Given the description of an element on the screen output the (x, y) to click on. 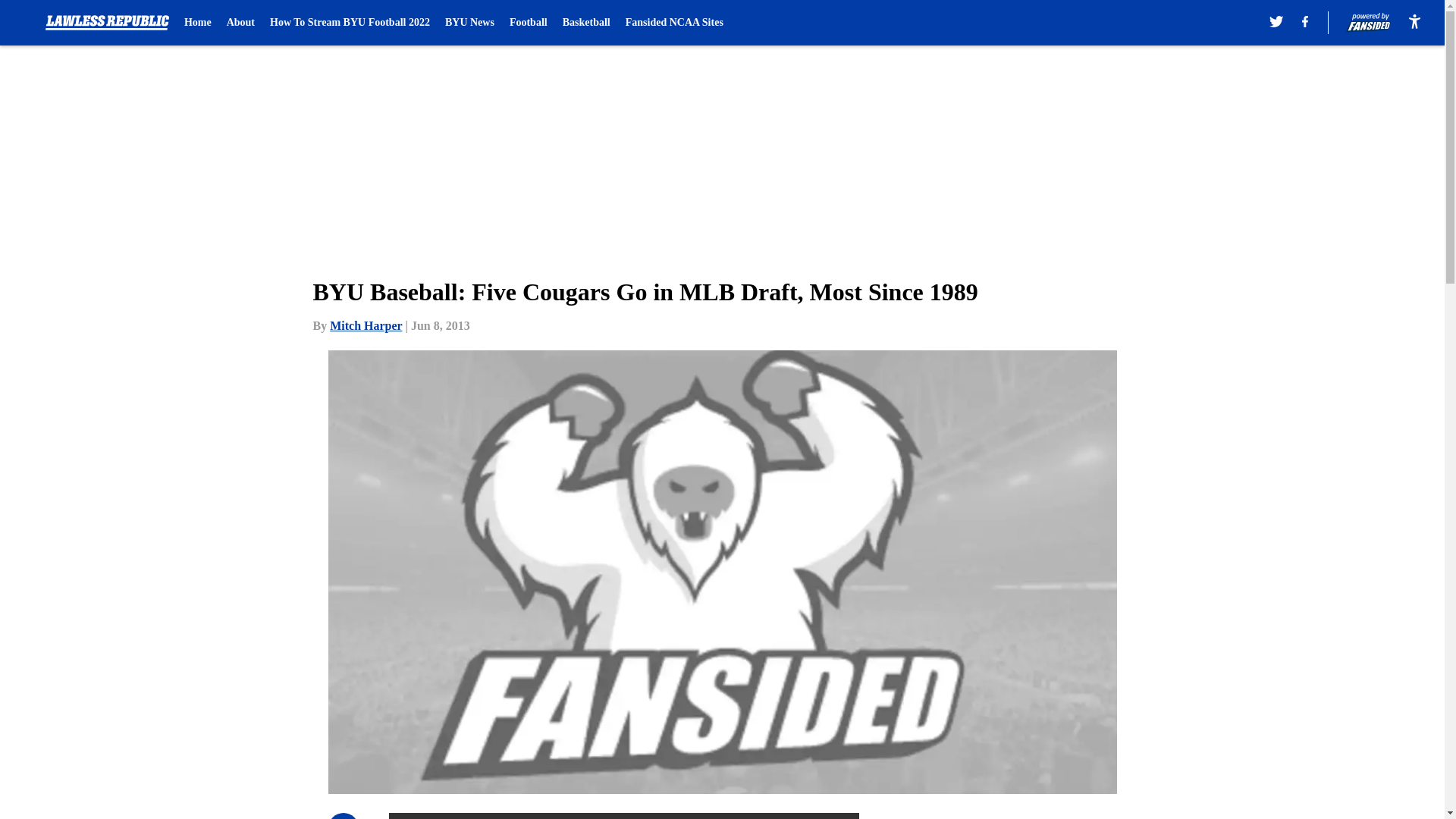
About (240, 22)
Basketball (586, 22)
Mitch Harper (365, 325)
BYU News (470, 22)
Football (528, 22)
Fansided NCAA Sites (674, 22)
3rd party ad content (1047, 816)
Home (197, 22)
How To Stream BYU Football 2022 (349, 22)
